Given the description of an element on the screen output the (x, y) to click on. 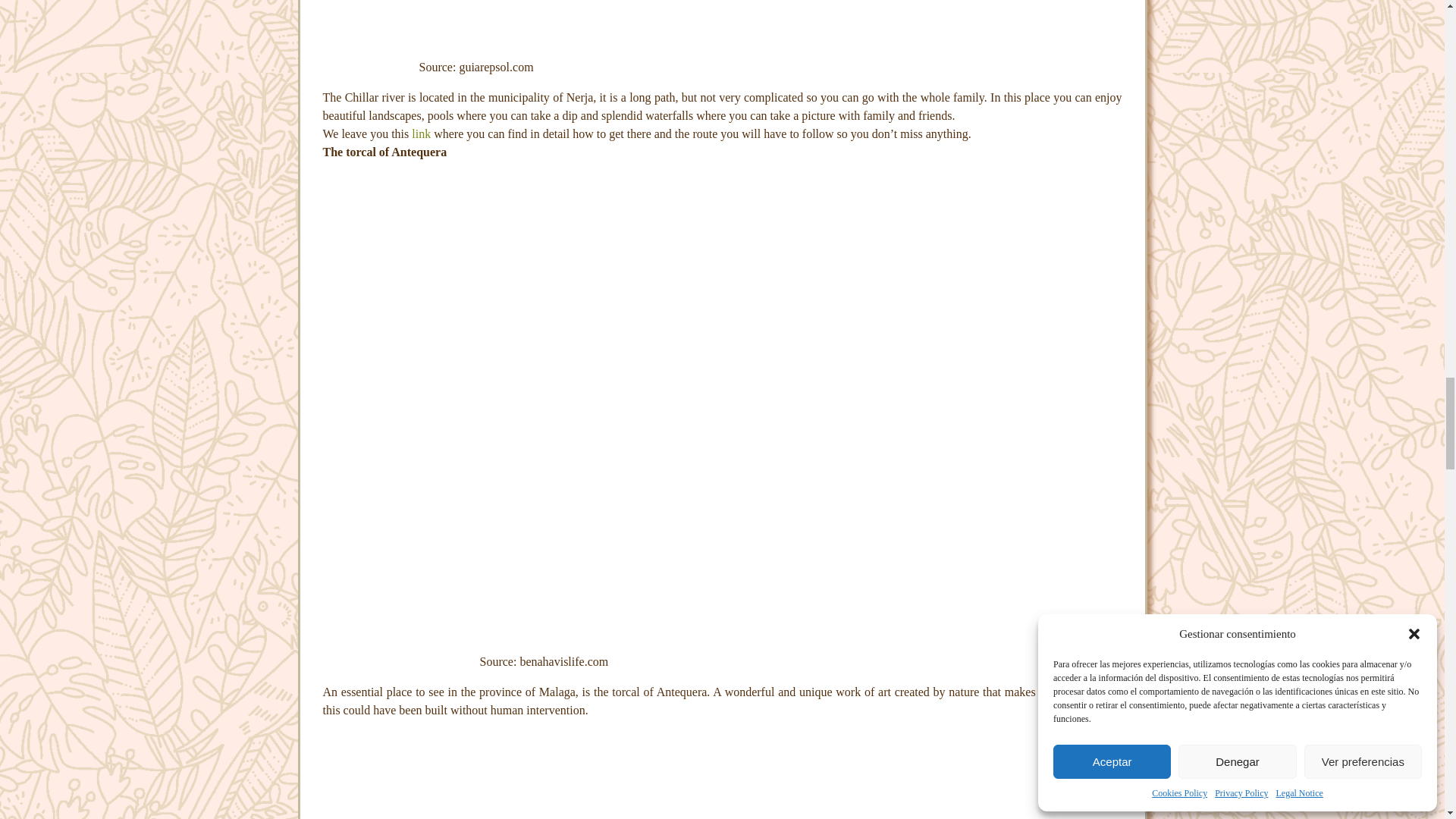
link (421, 133)
